Given the description of an element on the screen output the (x, y) to click on. 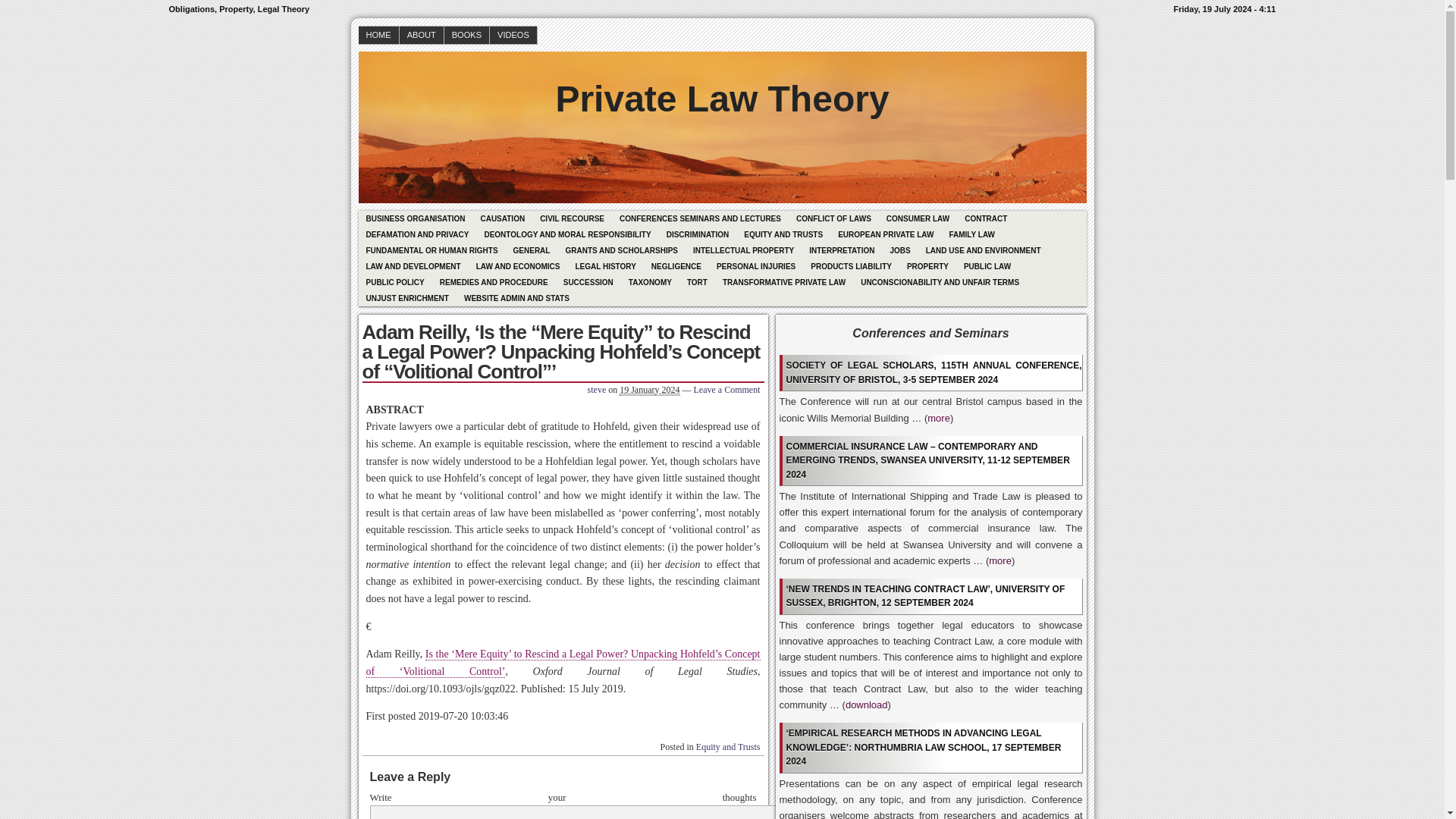
CONFERENCES SEMINARS AND LECTURES (700, 218)
LAW AND DEVELOPMENT (412, 266)
EUROPEAN PRIVATE LAW (884, 234)
BOOKS (466, 34)
EQUITY AND TRUSTS (782, 234)
VIDEOS (513, 34)
LEGAL HISTORY (605, 266)
SUCCESSION (588, 282)
FAMILY LAW (971, 234)
NEGLIGENCE (676, 266)
TRANSFORMATIVE PRIVATE LAW (783, 282)
ABOUT (421, 34)
PRODUCTS LIABILITY (851, 266)
DEONTOLOGY AND MORAL RESPONSIBILITY (567, 234)
GENERAL (531, 250)
